Given the description of an element on the screen output the (x, y) to click on. 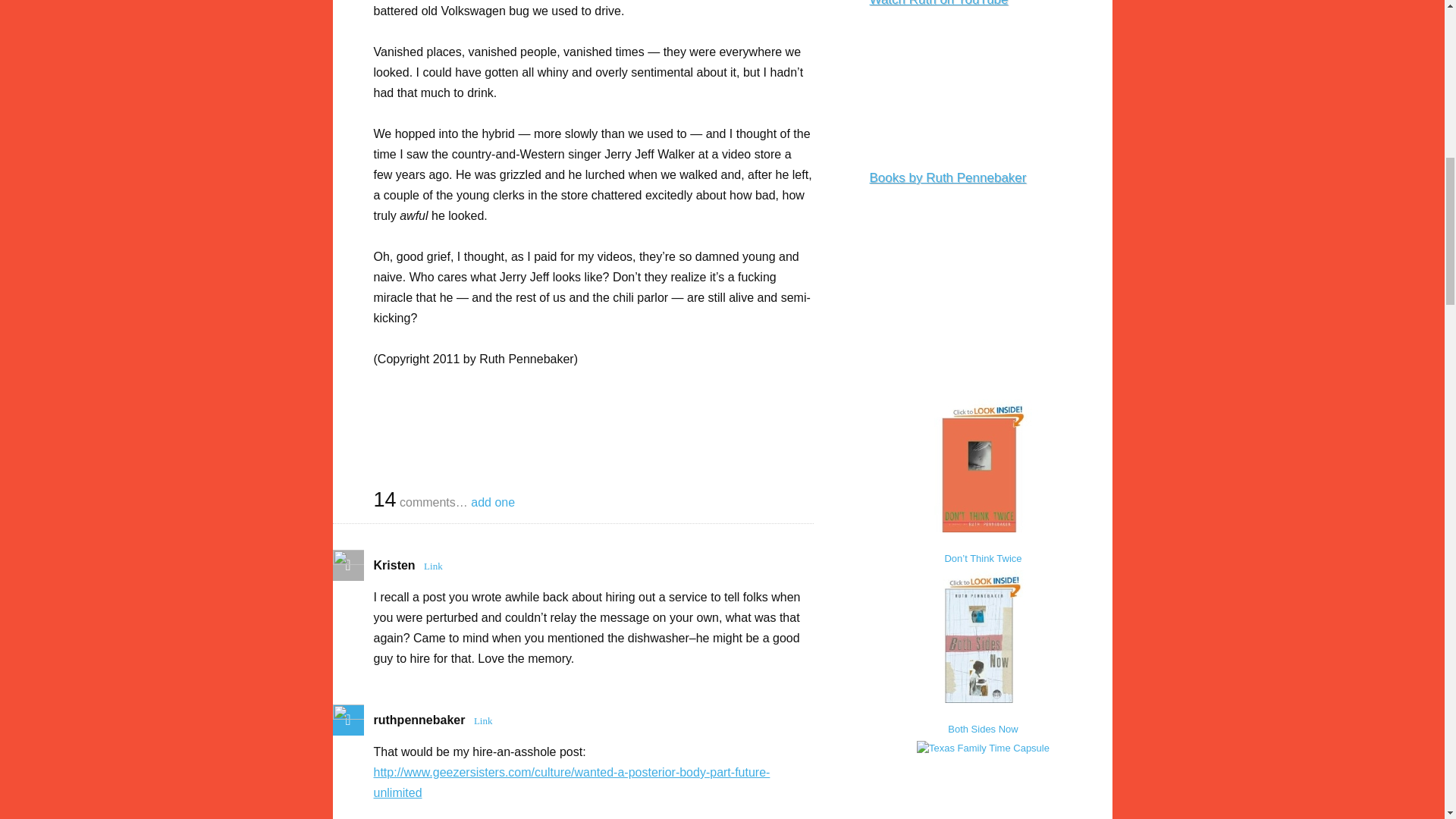
Link (482, 720)
Link (433, 566)
add one (492, 502)
Kristen (393, 564)
permalink to this comment (433, 566)
permalink to this comment (482, 720)
